Given the description of an element on the screen output the (x, y) to click on. 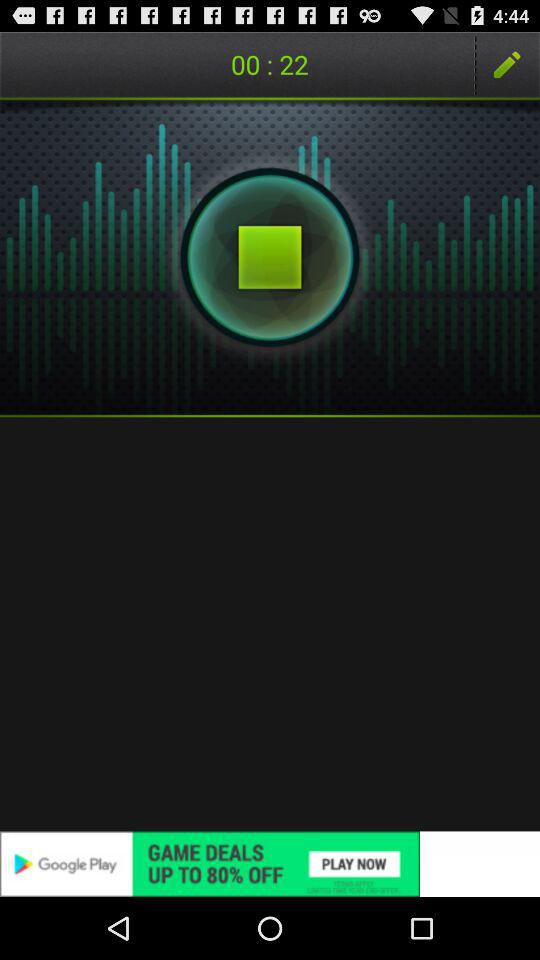
tap to play (270, 257)
